Given the description of an element on the screen output the (x, y) to click on. 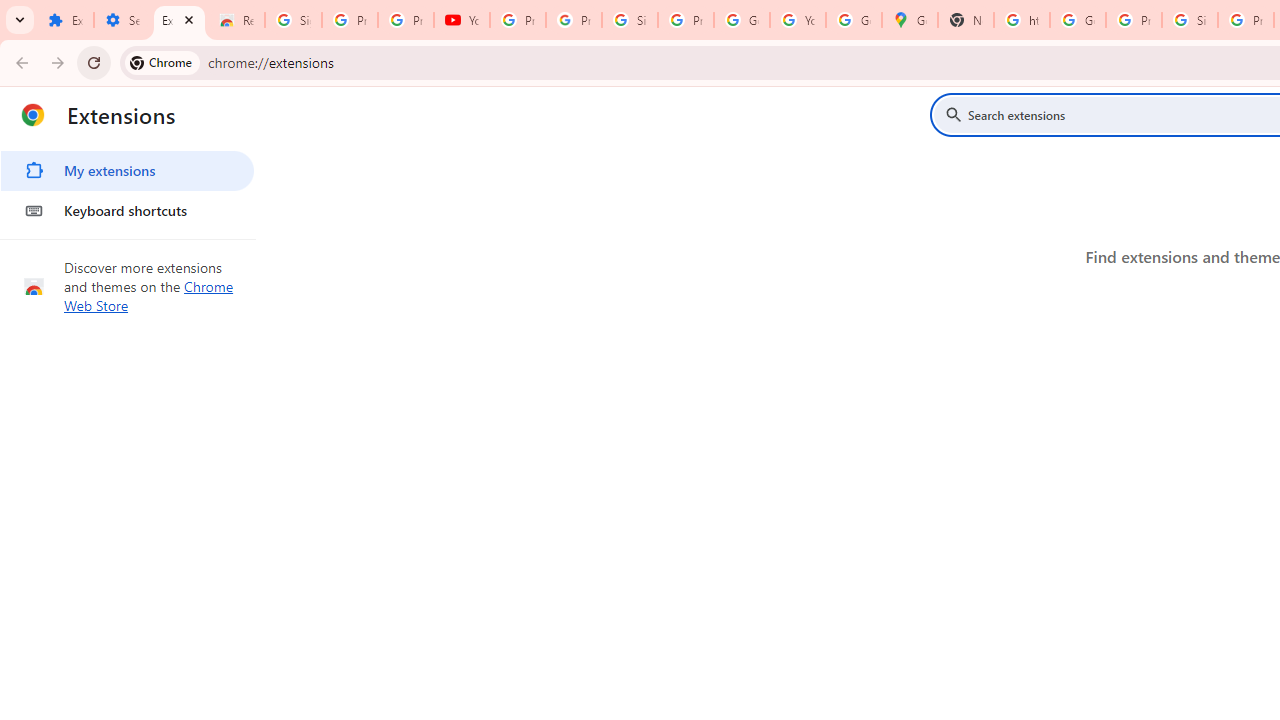
Keyboard shortcuts (127, 210)
YouTube (797, 20)
Reviews: Helix Fruit Jump Arcade Game (235, 20)
Extensions (65, 20)
Sign in - Google Accounts (1190, 20)
Settings (122, 20)
Google Account (742, 20)
